Given the description of an element on the screen output the (x, y) to click on. 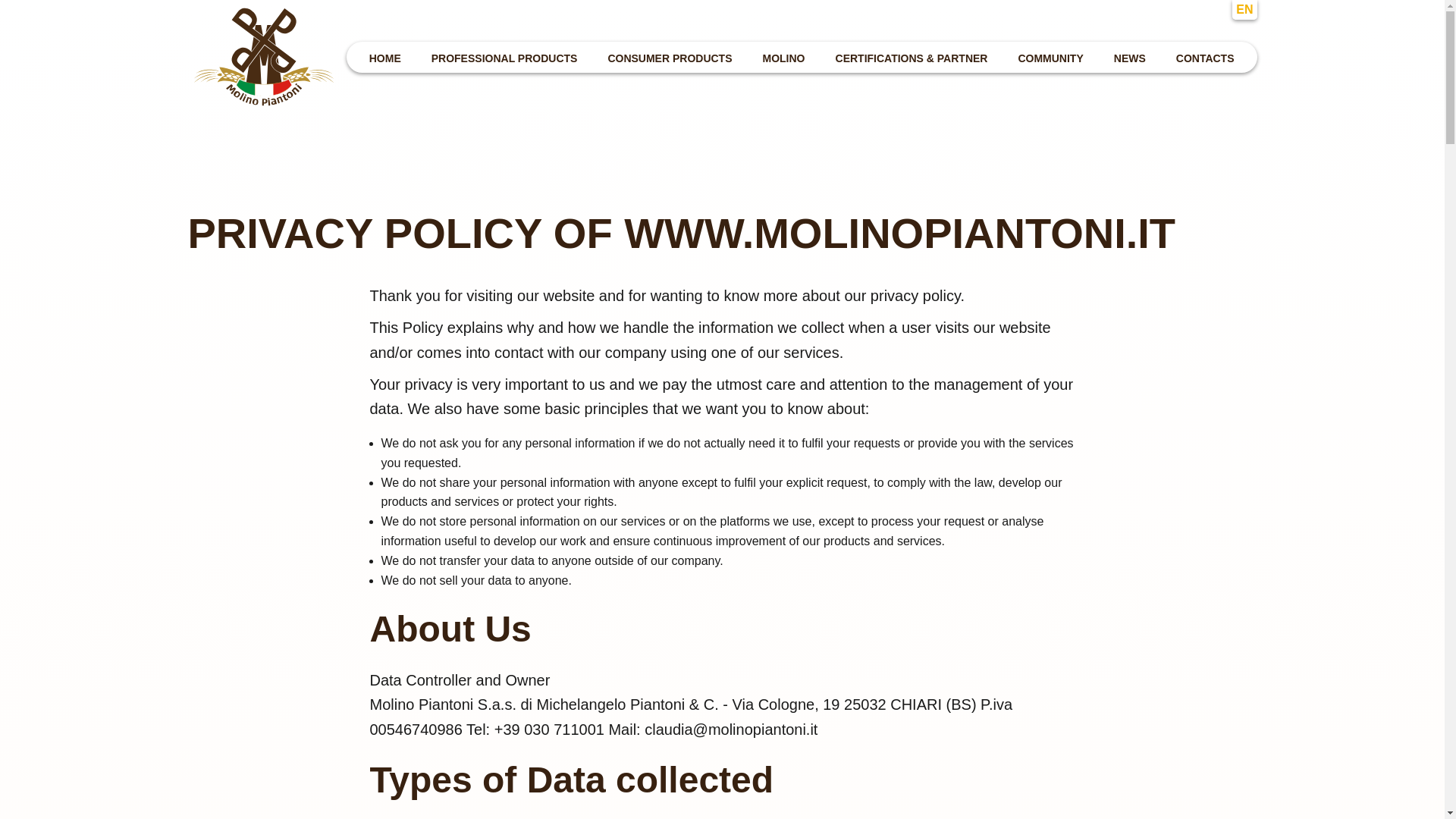
MOLINO (783, 56)
CONSUMER PRODUCTS (669, 56)
EN (1243, 9)
CONTACTS (1205, 56)
HOME (385, 56)
COMMUNITY (1050, 56)
NEWS (1129, 56)
PROFESSIONAL PRODUCTS (504, 56)
